Given the description of an element on the screen output the (x, y) to click on. 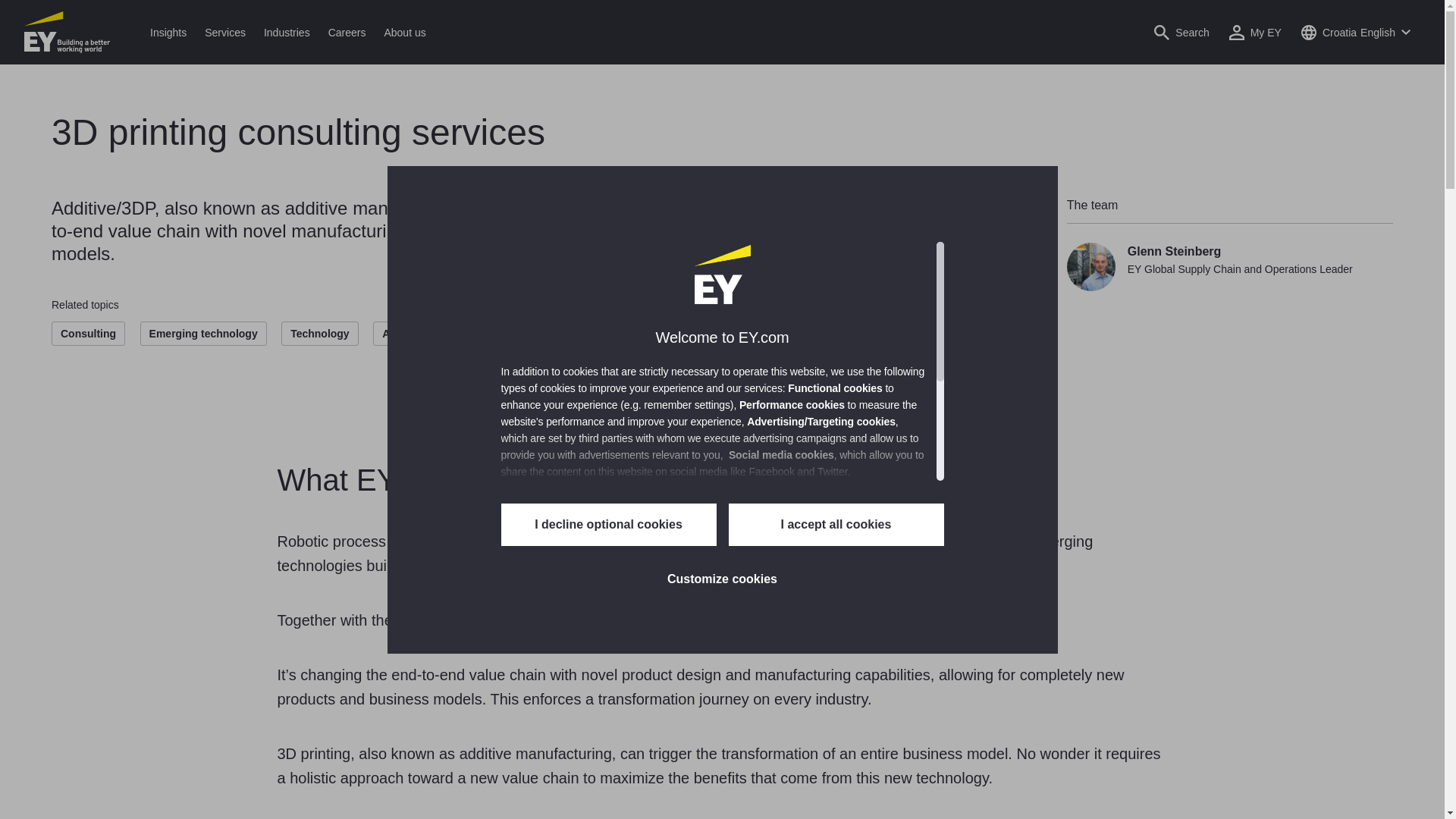
EY Homepage (67, 32)
Open search (1181, 32)
Open country language switcher (1355, 32)
My EY (1255, 32)
